Given the description of an element on the screen output the (x, y) to click on. 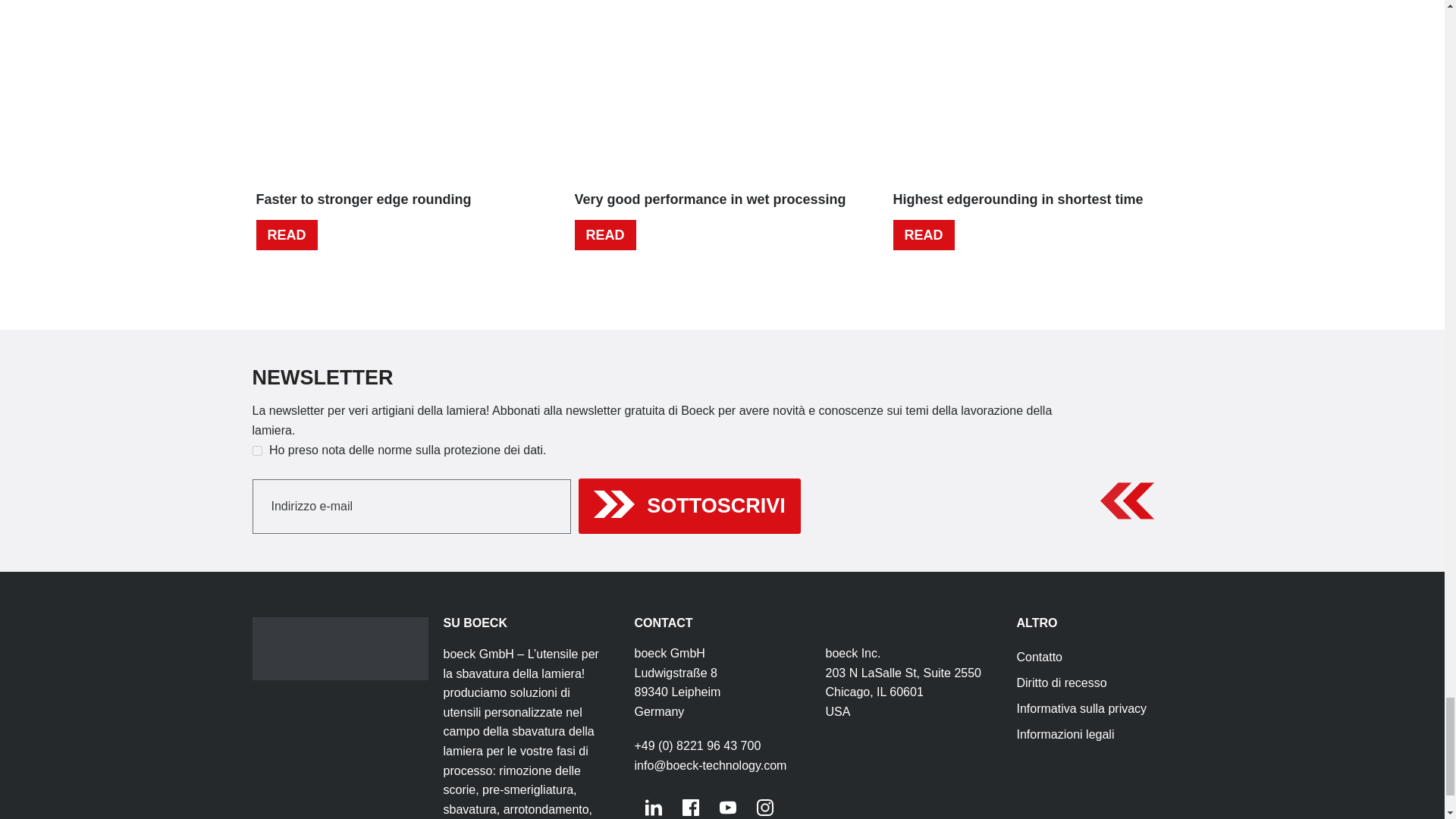
on (256, 450)
